Given the description of an element on the screen output the (x, y) to click on. 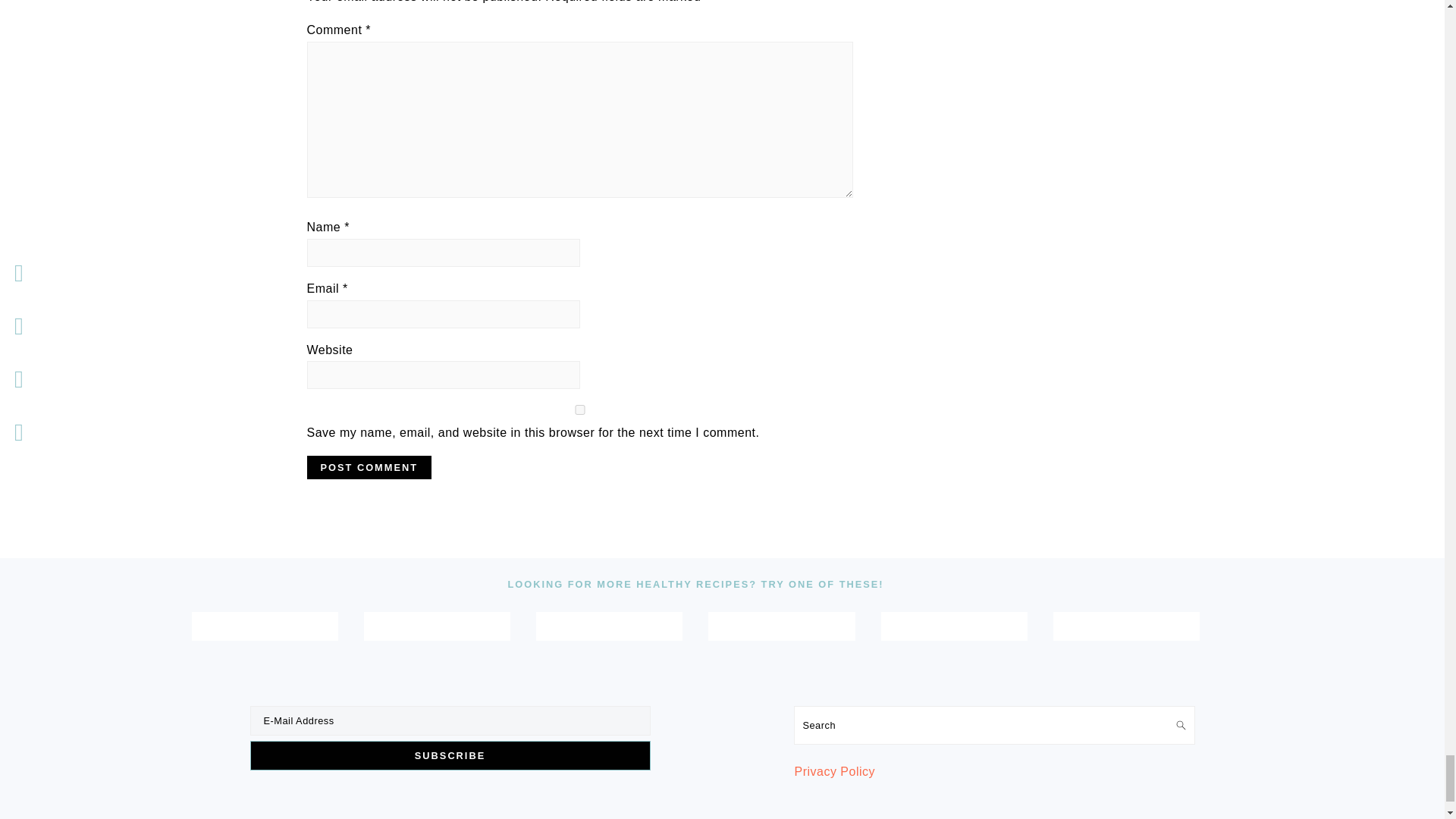
yes (578, 409)
Subscribe (450, 755)
Post Comment (367, 467)
